Given the description of an element on the screen output the (x, y) to click on. 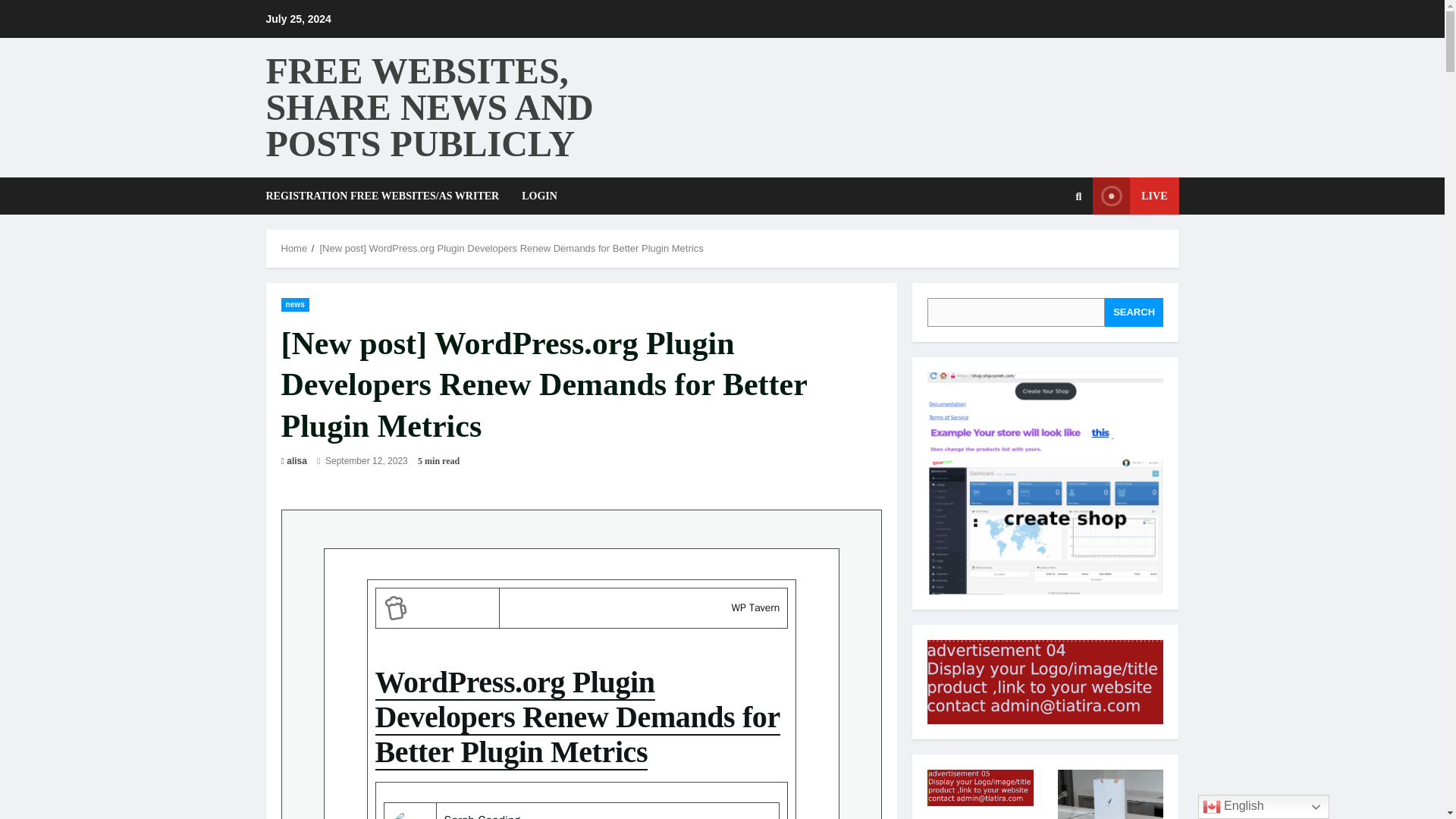
WP Tavern (756, 607)
Home (294, 247)
LOGIN (534, 195)
LIVE (1135, 195)
Search (1042, 247)
FREE WEBSITES, SHARE NEWS AND POSTS PUBLICLY (428, 106)
news (294, 304)
alisa (296, 460)
